Given the description of an element on the screen output the (x, y) to click on. 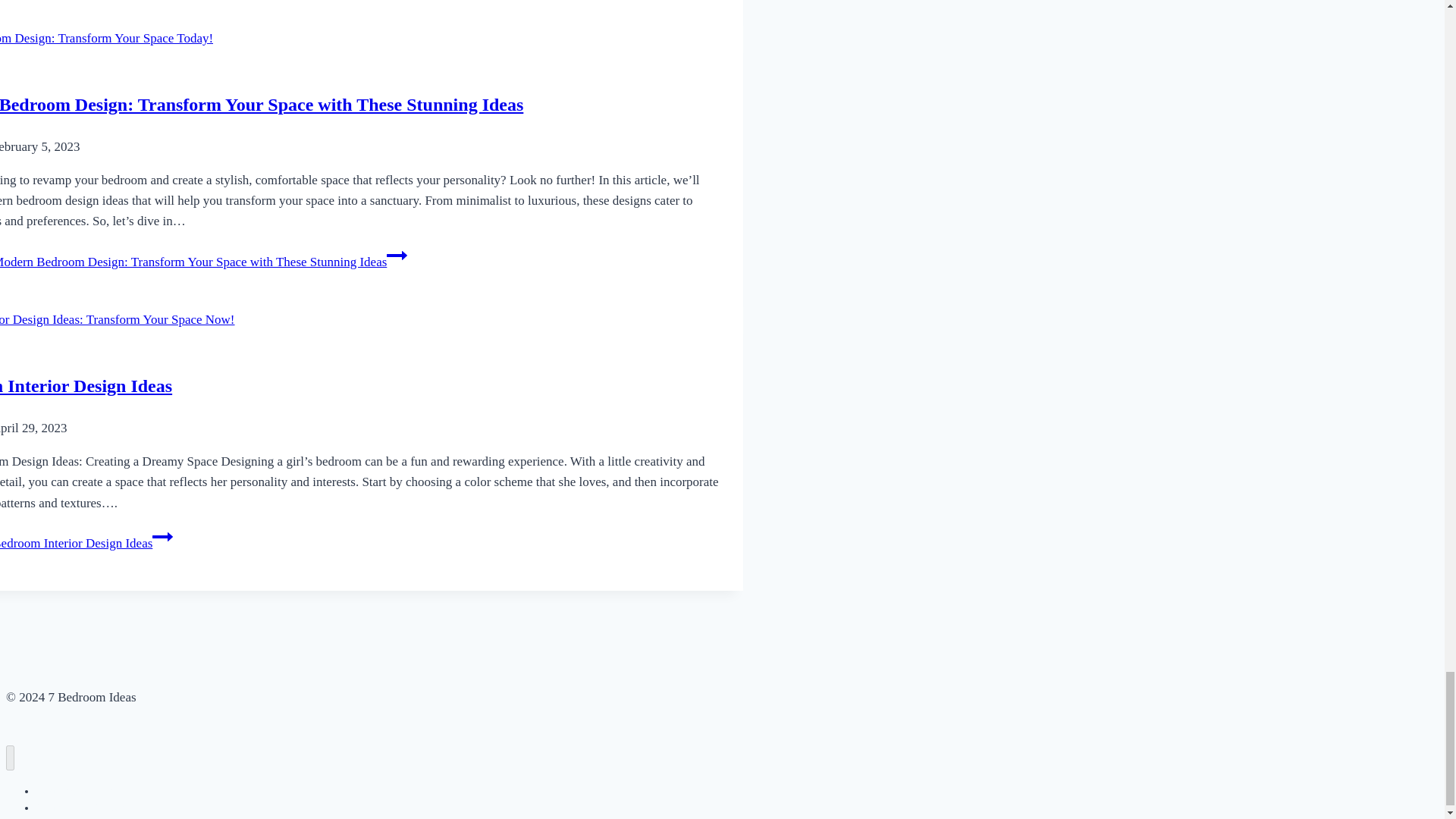
Best Bedroom Ideas (79, 791)
Continue (162, 536)
Continue (397, 255)
Read More Bedroom Interior Design IdeasContinue (86, 543)
Bedroom Interior Design Ideas (85, 385)
